Given the description of an element on the screen output the (x, y) to click on. 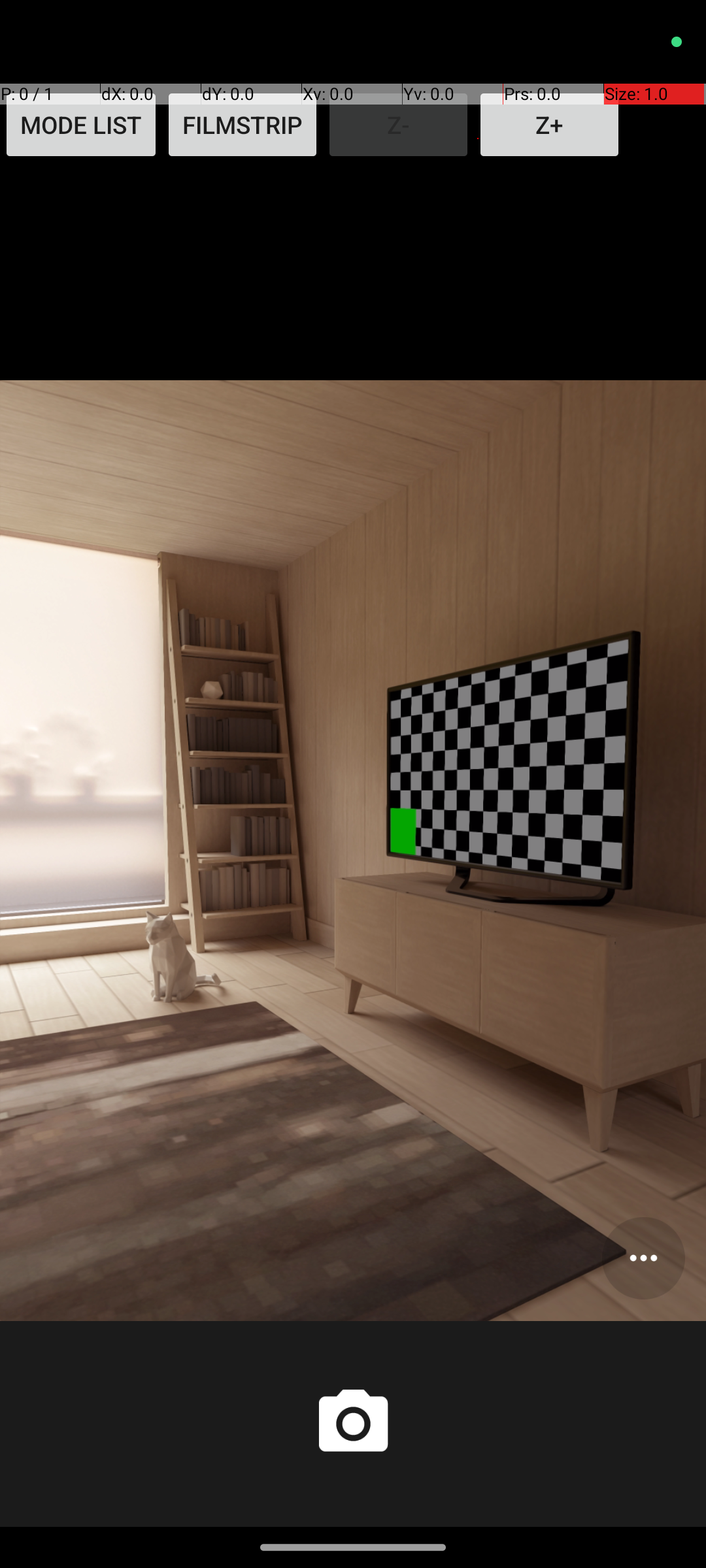
Options Element type: android.widget.LinearLayout (643, 1258)
